Given the description of an element on the screen output the (x, y) to click on. 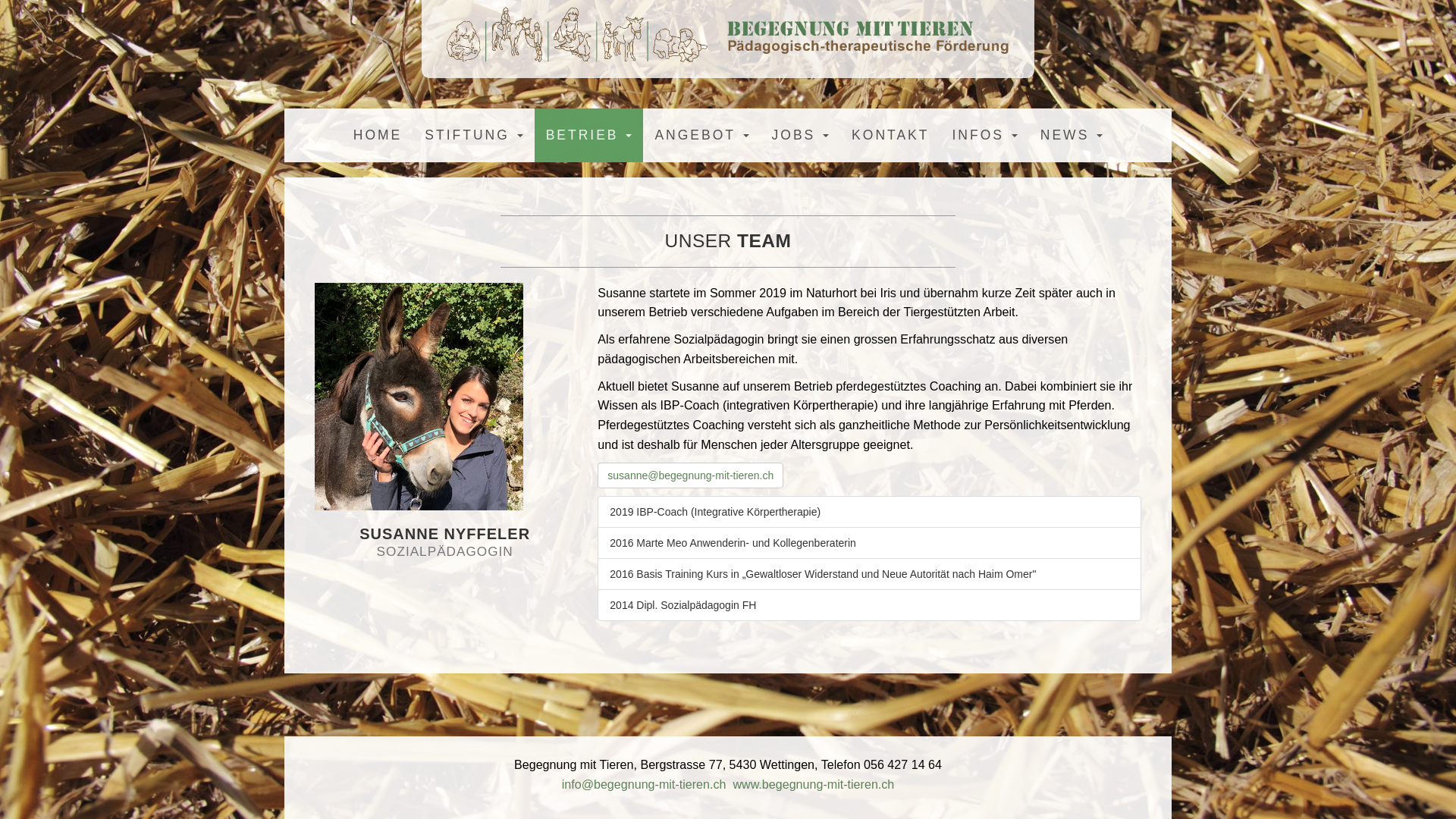
JOBS Element type: text (800, 135)
ANGEBOT Element type: text (701, 135)
NEWS Element type: text (1071, 135)
INFOS Element type: text (984, 135)
BETRIEB Element type: text (588, 135)
info@begegnung-mit-tieren.ch Element type: text (643, 783)
HOME Element type: text (378, 135)
www.begegnung-mit-tieren.ch Element type: text (813, 783)
susanne@begegnung-mit-tieren.ch Element type: text (690, 475)
STIFTUNG Element type: text (473, 135)
KONTAKT Element type: text (890, 135)
